Given the description of an element on the screen output the (x, y) to click on. 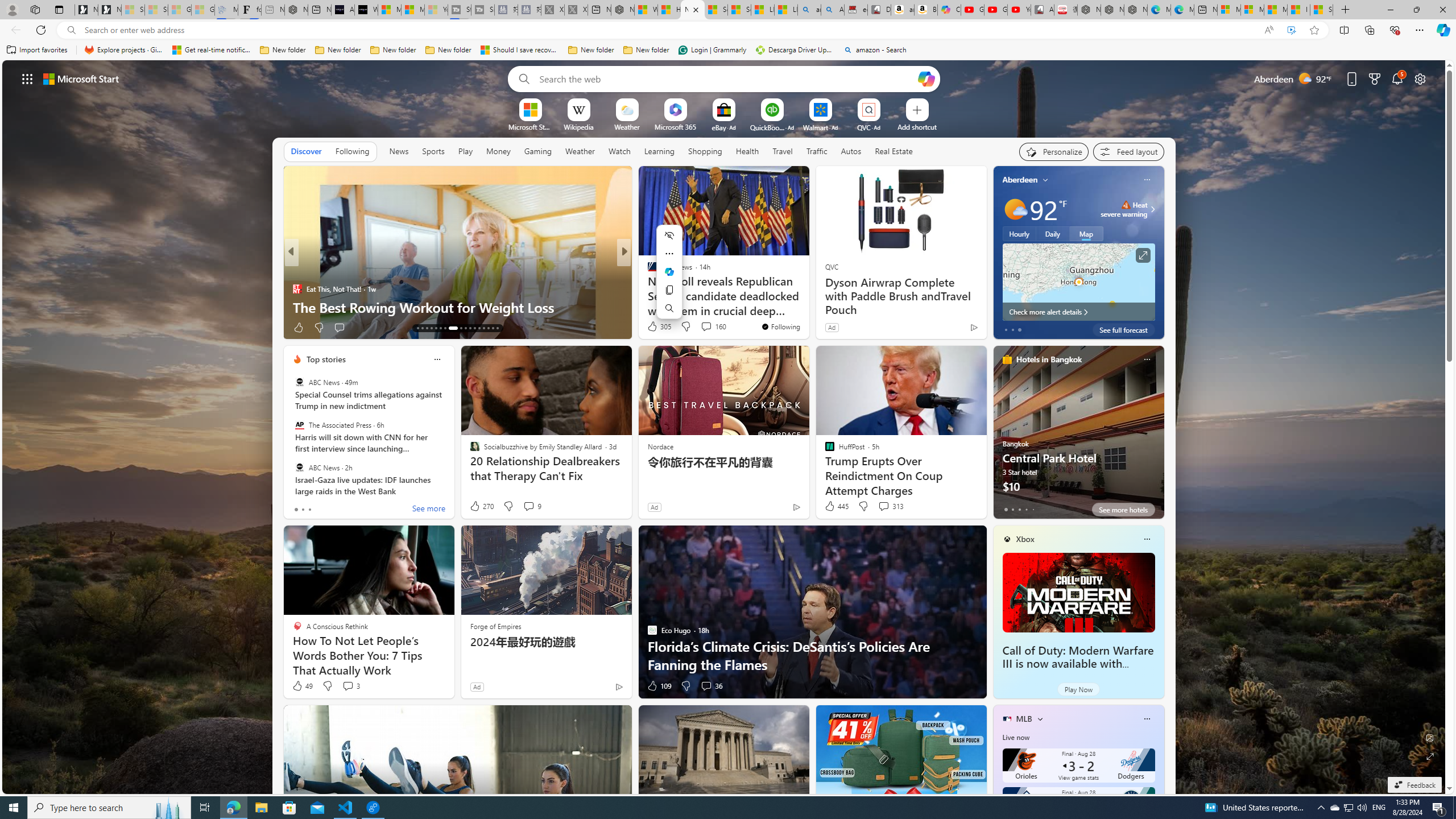
View comments 1k Comment (703, 327)
You're following FOX News (780, 326)
157 Like (654, 327)
tab-1 (1012, 509)
Search (668, 307)
Travel (782, 151)
Start the conversation (702, 327)
Health (746, 151)
